Given the description of an element on the screen output the (x, y) to click on. 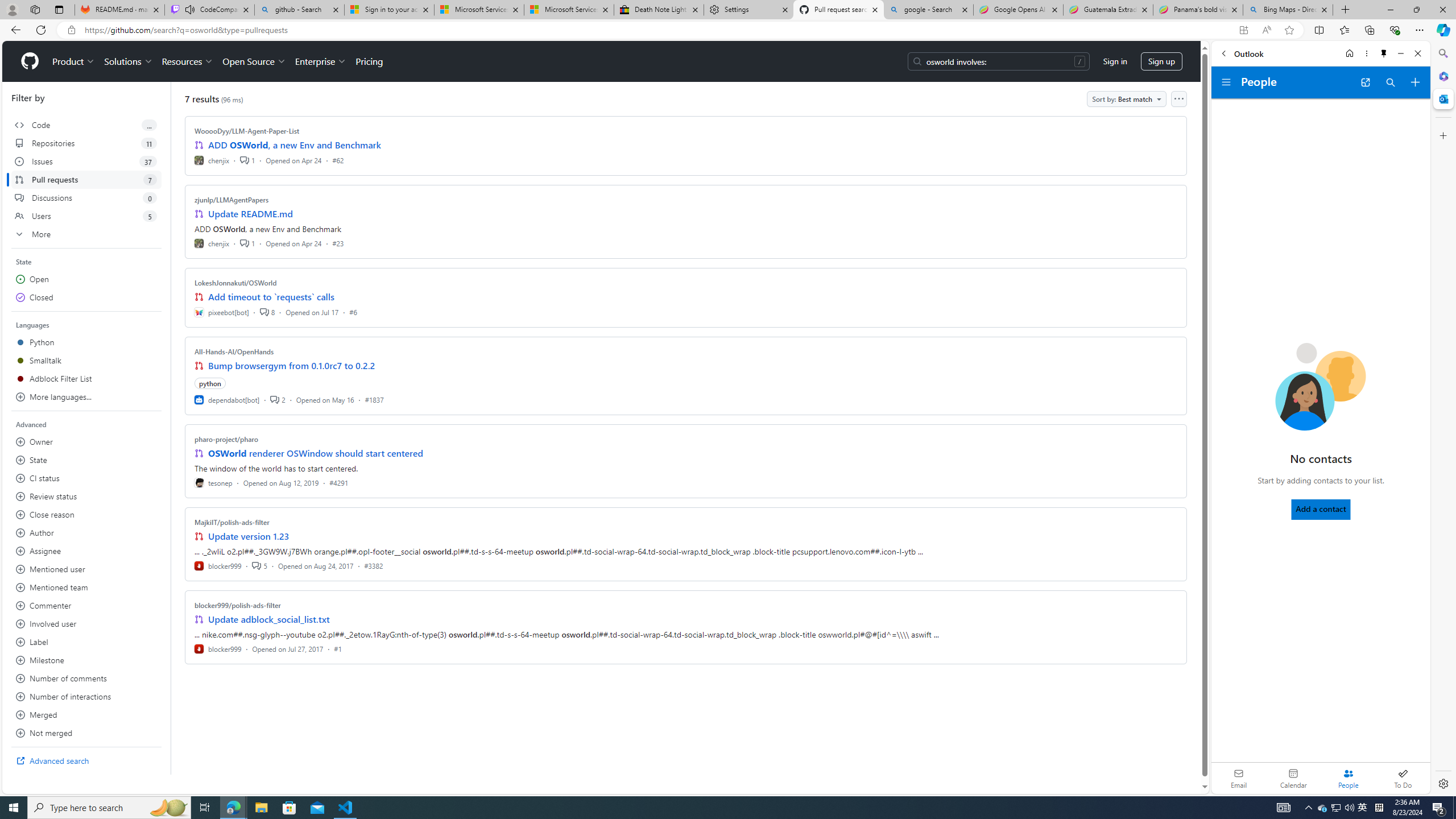
MajkiIT/polish-ads-filter (232, 521)
#1837 (374, 398)
More languages... (86, 397)
